Given the description of an element on the screen output the (x, y) to click on. 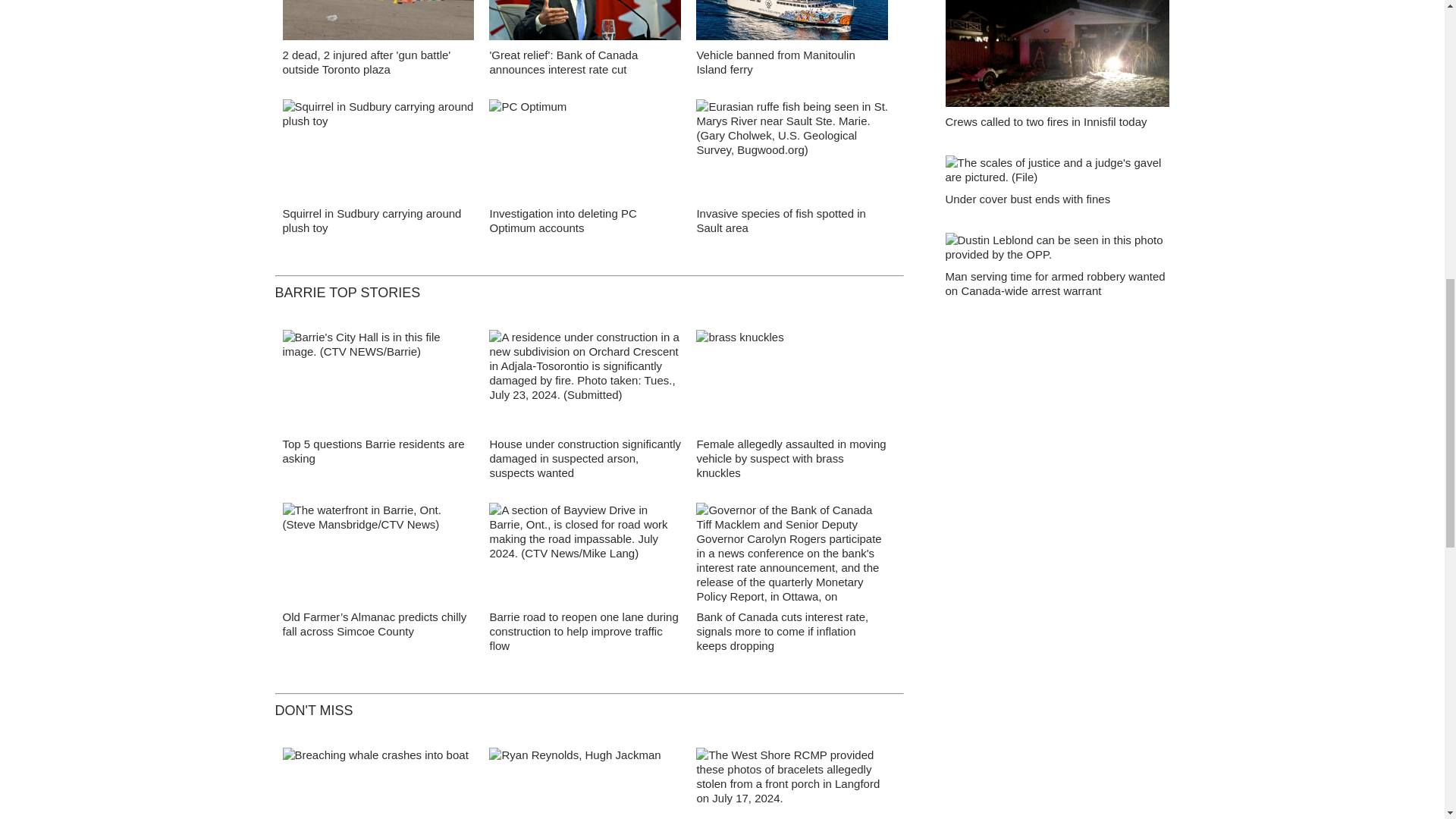
barrie waterfront (378, 556)
Invasive species of fish spotted in Sault area (779, 220)
Vehicle banned from Manitoulin Island ferry (774, 62)
Investigation into deleting PC Optimum accounts (562, 220)
false (378, 149)
Barrie  (378, 383)
false (791, 149)
false (378, 20)
false (585, 149)
Bayview Drive construction (585, 556)
'Great relief': Bank of Canada announces interest rate cut (563, 62)
Governor of the Bank of Canada Tiff Macklem speaks (585, 24)
House fire (585, 383)
